Given the description of an element on the screen output the (x, y) to click on. 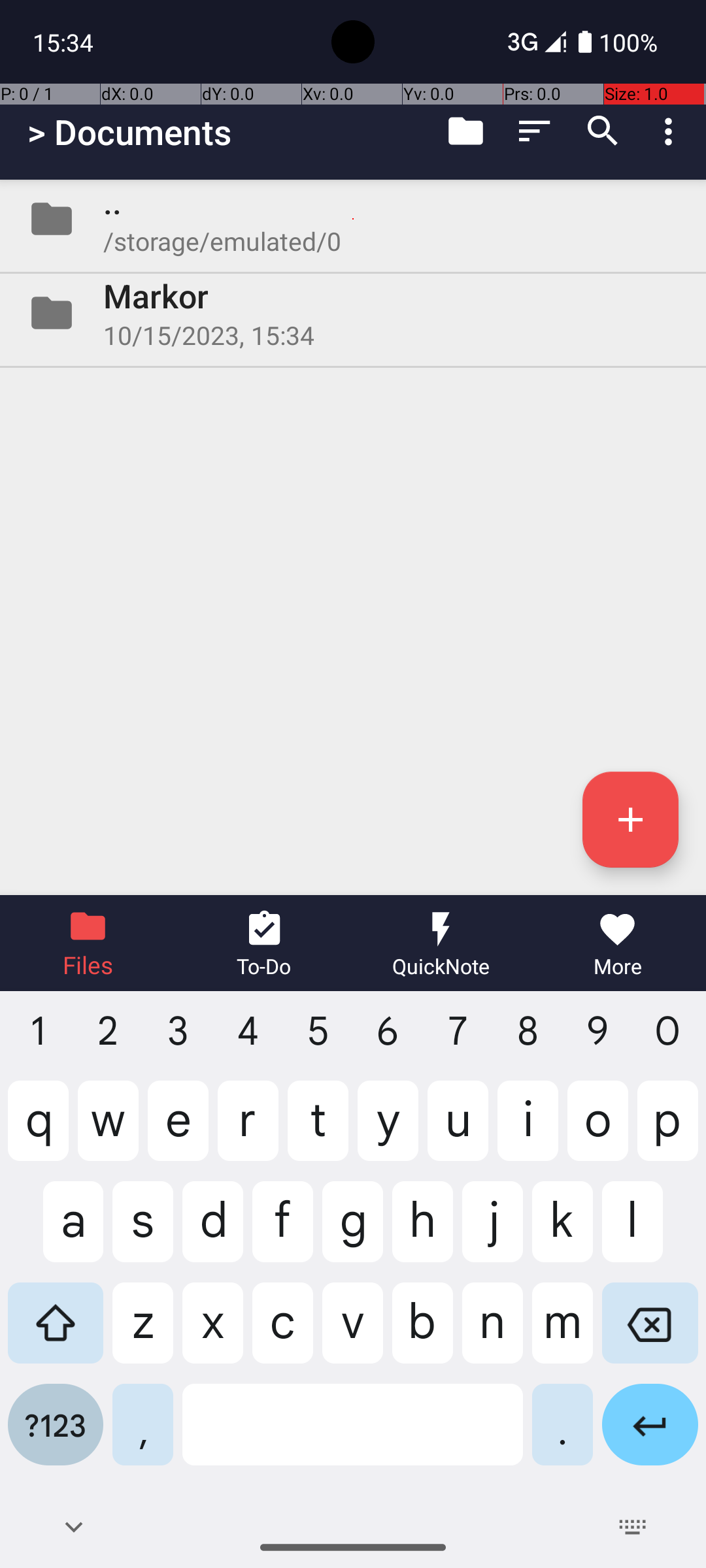
> Documents Element type: android.widget.TextView (129, 131)
Folder .. /storage/emulated/0/Documents Element type: android.widget.LinearLayout (353, 218)
Folder Markor 10/15/2023, 15:34 Element type: android.widget.LinearLayout (353, 312)
